Given the description of an element on the screen output the (x, y) to click on. 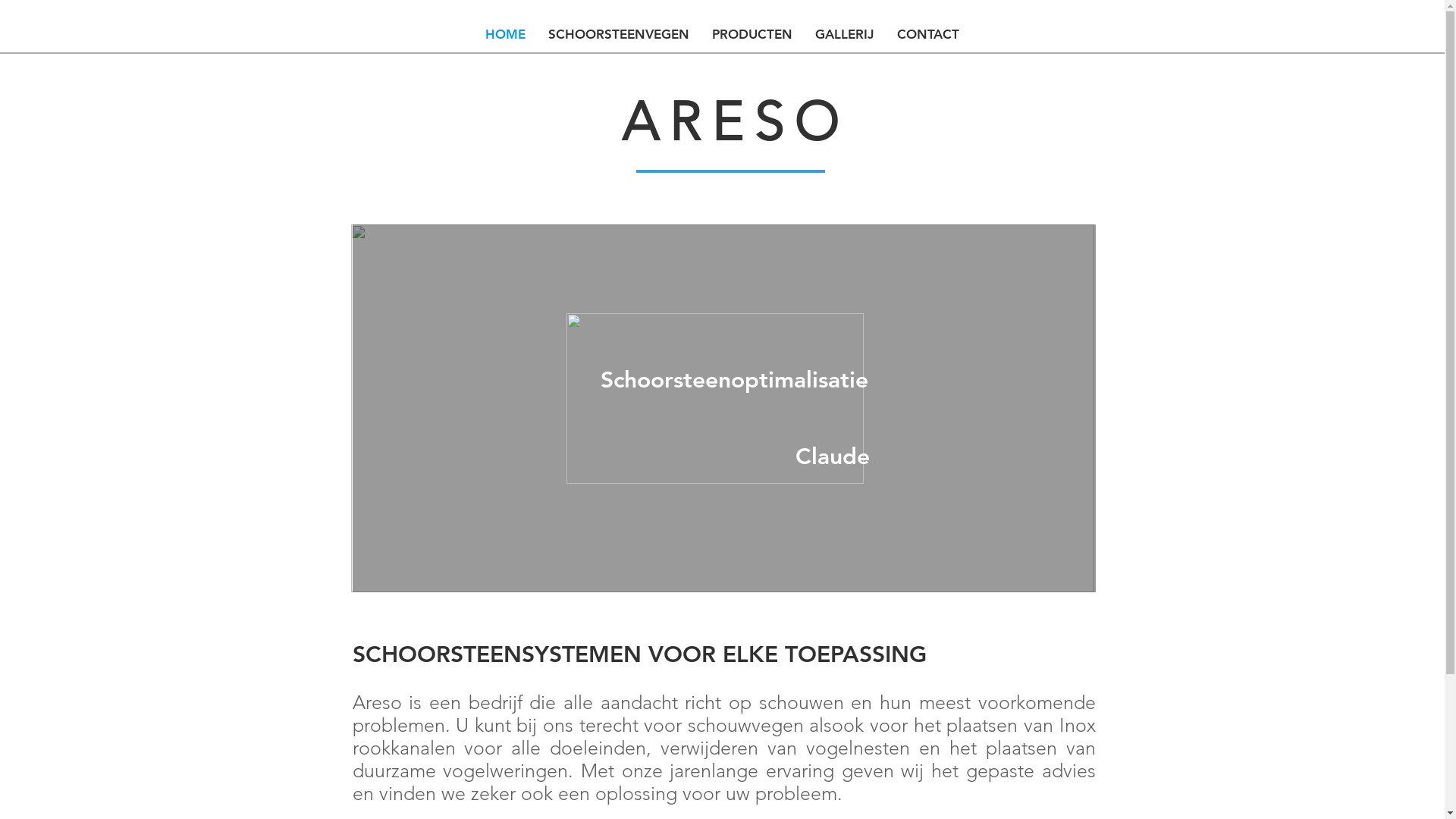
SCHOORSTEENVEGEN Element type: text (618, 34)
CONTACT Element type: text (927, 34)
GALLERIJ Element type: text (844, 34)
shutterstock_282585290.jpg Element type: hover (721, 408)
HOME Element type: text (504, 34)
PRODUCTEN Element type: text (751, 34)
